Given the description of an element on the screen output the (x, y) to click on. 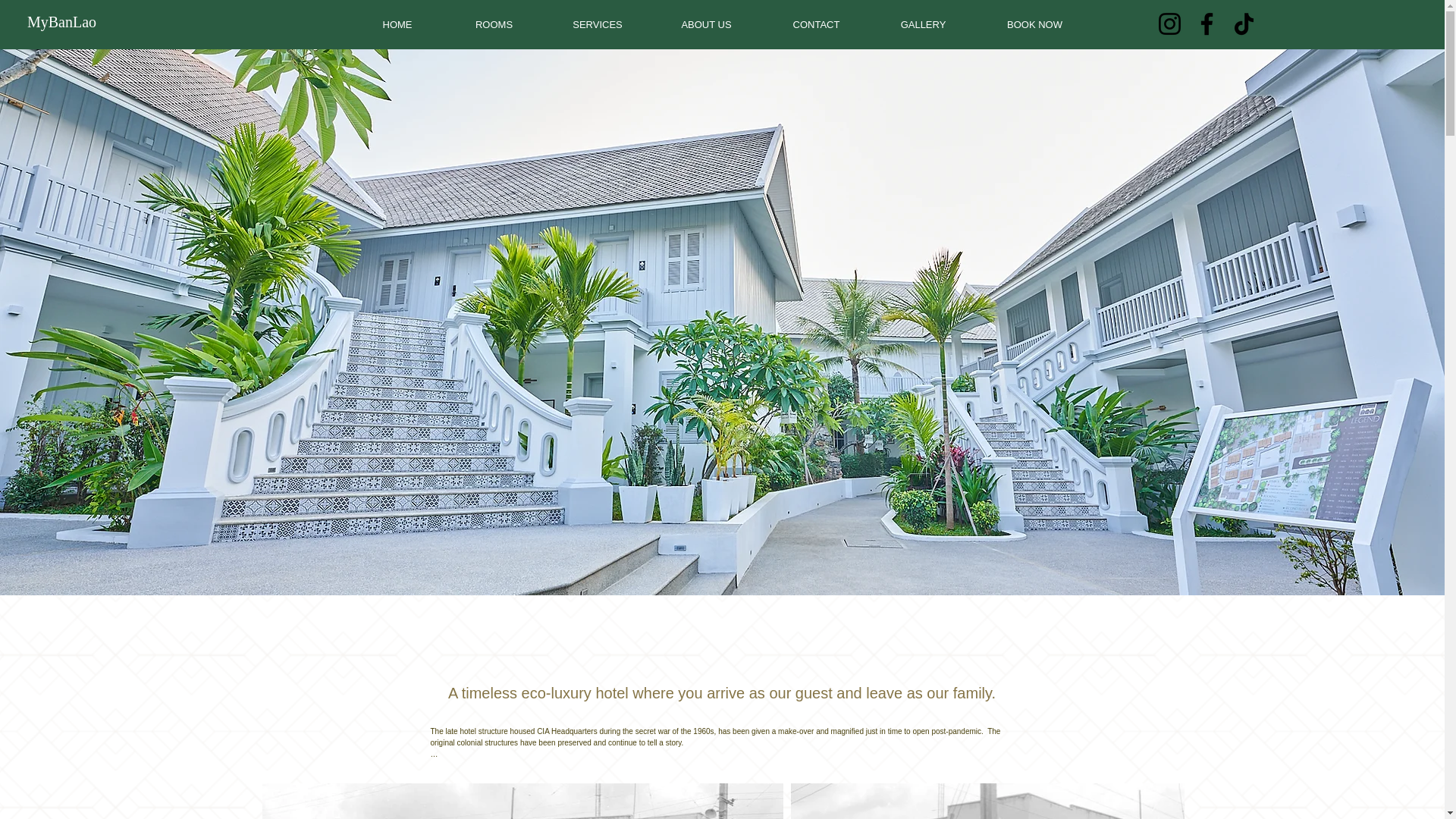
BOOK NOW (1034, 24)
ROOMS (494, 24)
MyBanLao (61, 21)
SERVICES (597, 24)
GALLERY (922, 24)
ABOUT US (705, 24)
HOME (397, 24)
CONTACT (815, 24)
